Given the description of an element on the screen output the (x, y) to click on. 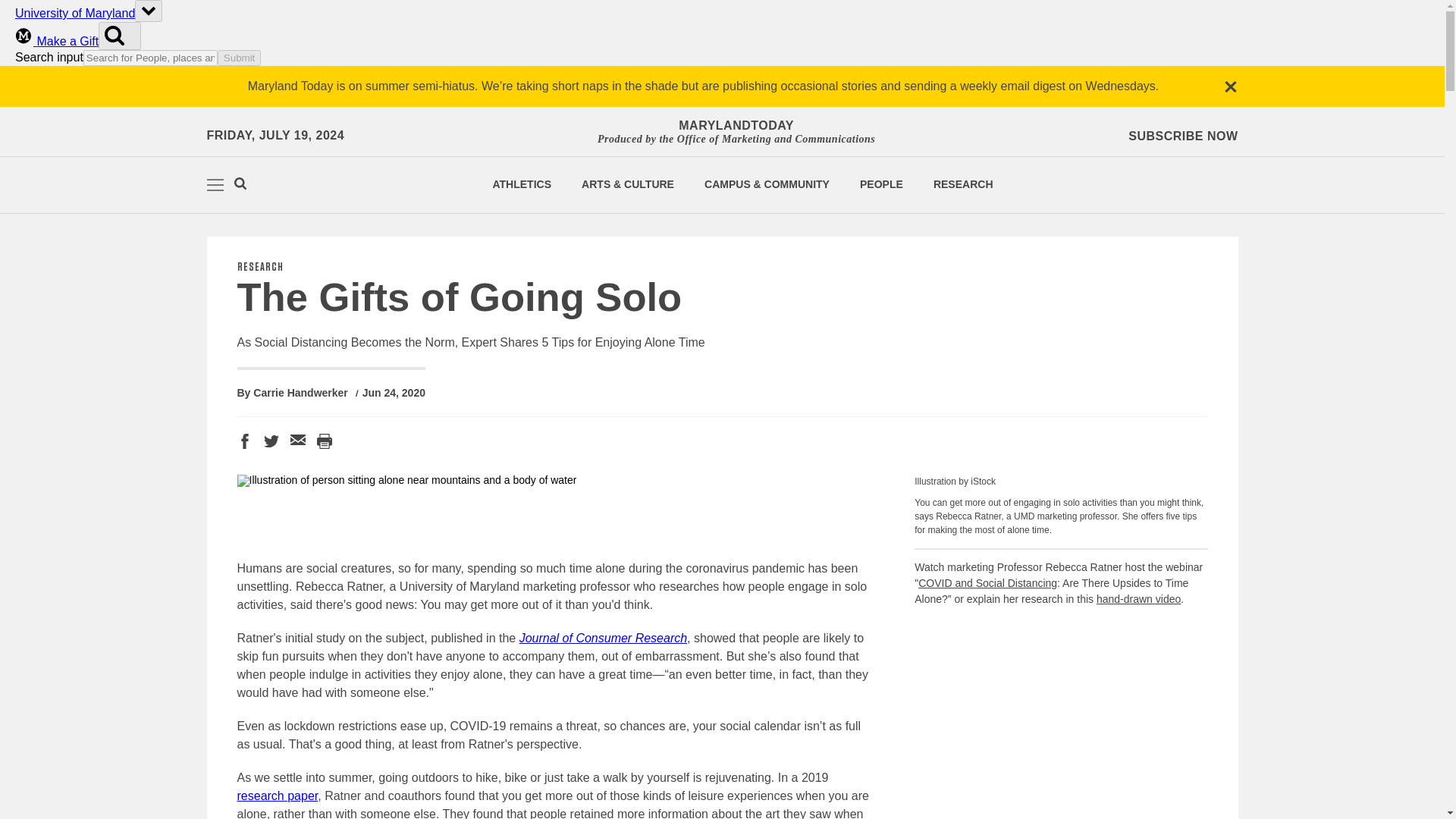
SUBSCRIBE NOW (1182, 136)
MARYLANDTODAY (735, 125)
PEOPLE (881, 184)
RESEARCH (962, 184)
Carrie Handwerker (300, 392)
ATHLETICS (522, 184)
RESEARCH (258, 266)
Journal of Consumer Research (603, 637)
research paper (276, 795)
Search (239, 185)
